Given the description of an element on the screen output the (x, y) to click on. 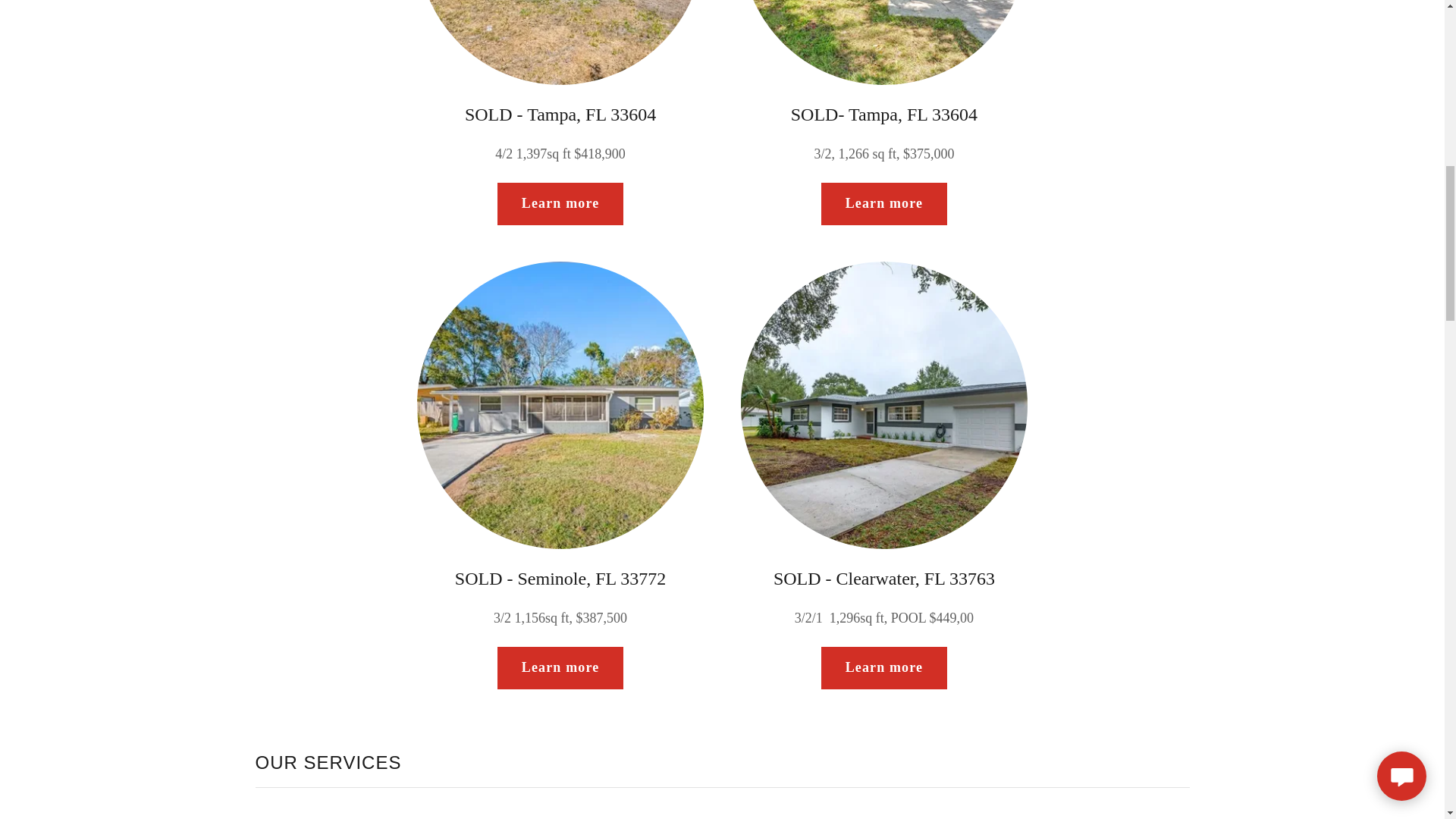
Learn more (884, 668)
Learn more (884, 203)
Learn more (560, 668)
Learn more (560, 203)
